Given the description of an element on the screen output the (x, y) to click on. 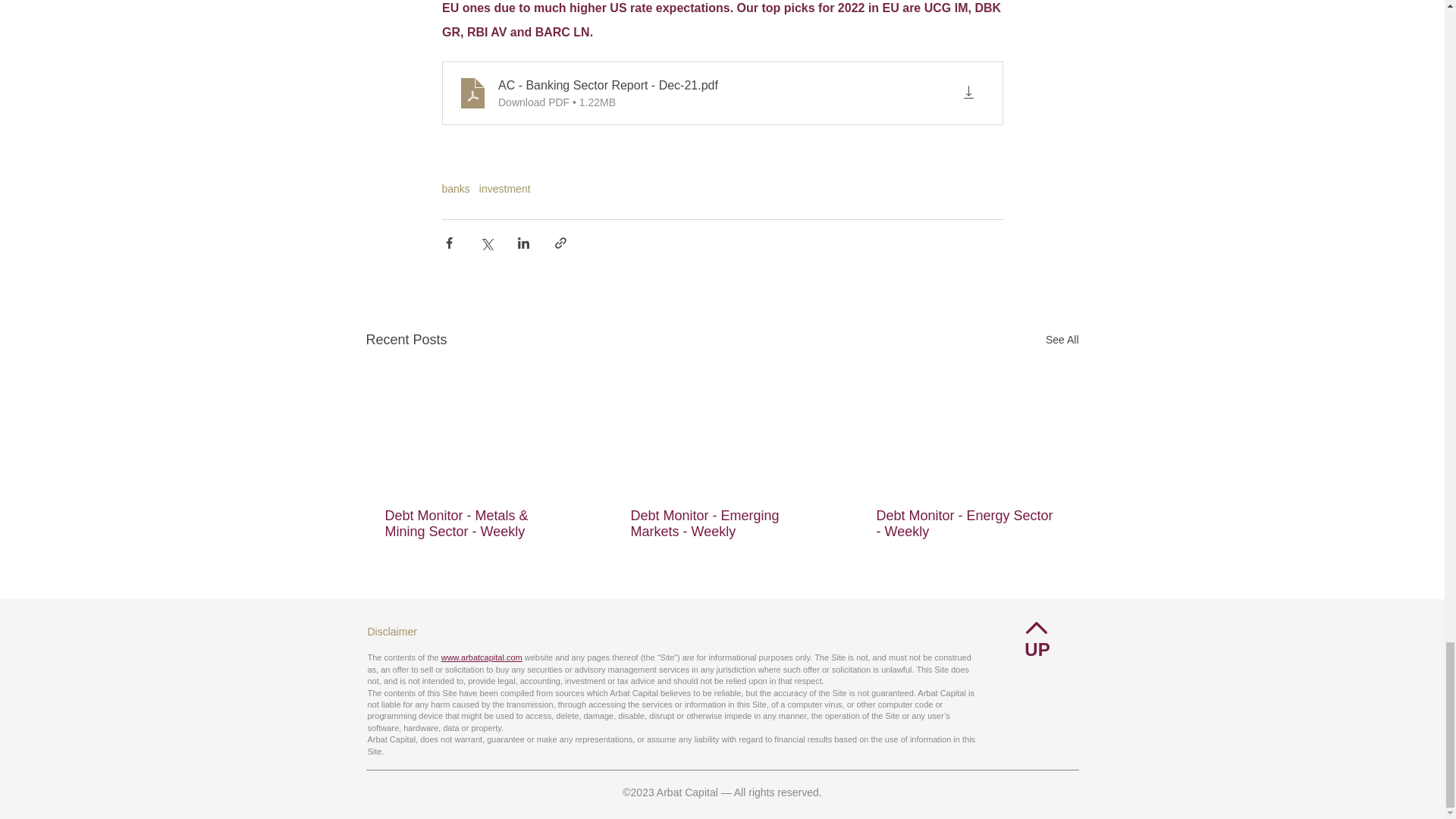
banks (454, 188)
www.arbatcapital.com (481, 656)
UP (1037, 649)
Debt Monitor - Emerging Markets - Weekly (721, 523)
Debt Monitor - Energy Sector - Weekly (967, 523)
investment (505, 188)
See All (1061, 340)
